Given the description of an element on the screen output the (x, y) to click on. 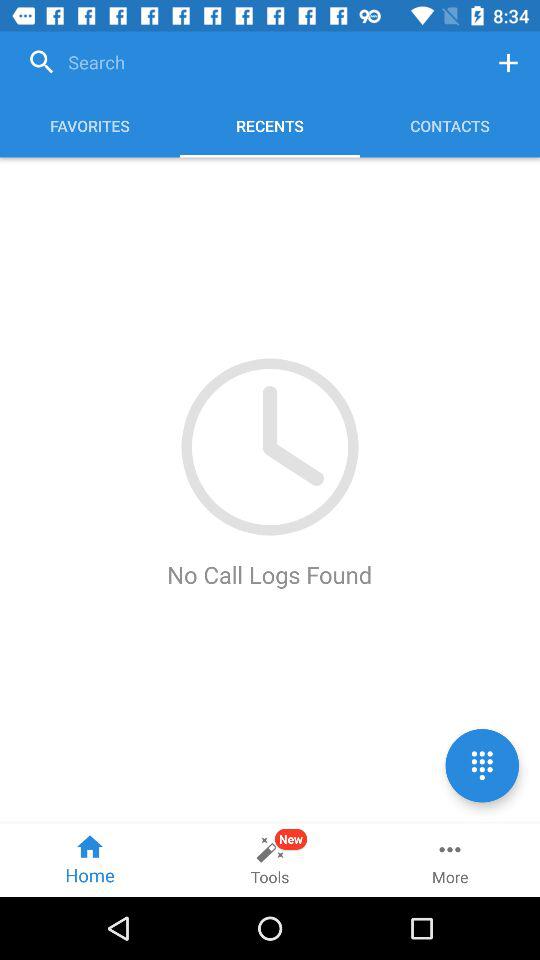
click on the search bar which is on top of the page (248, 63)
select the contacts (450, 126)
click on more (450, 859)
select the  tools icon  (269, 859)
